Given the description of an element on the screen output the (x, y) to click on. 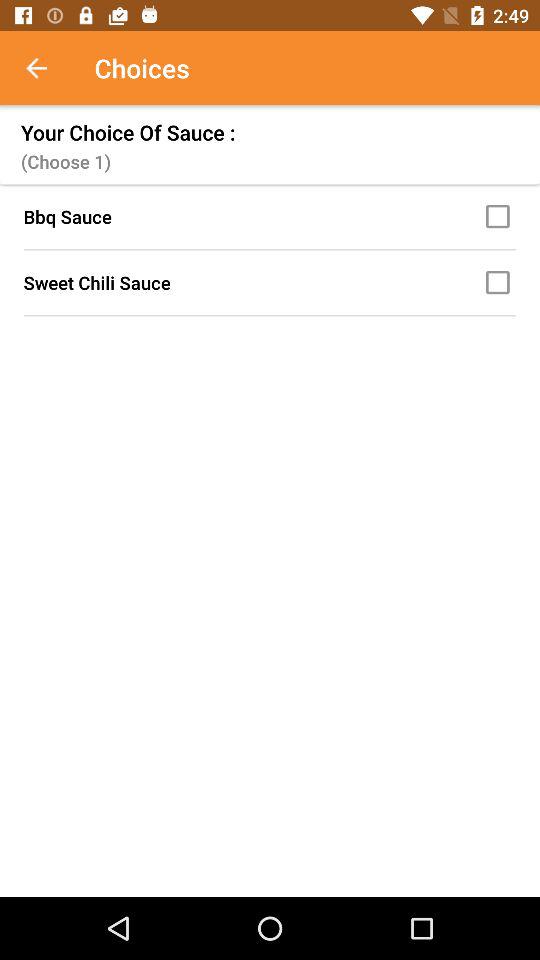
check box complete (501, 216)
